Given the description of an element on the screen output the (x, y) to click on. 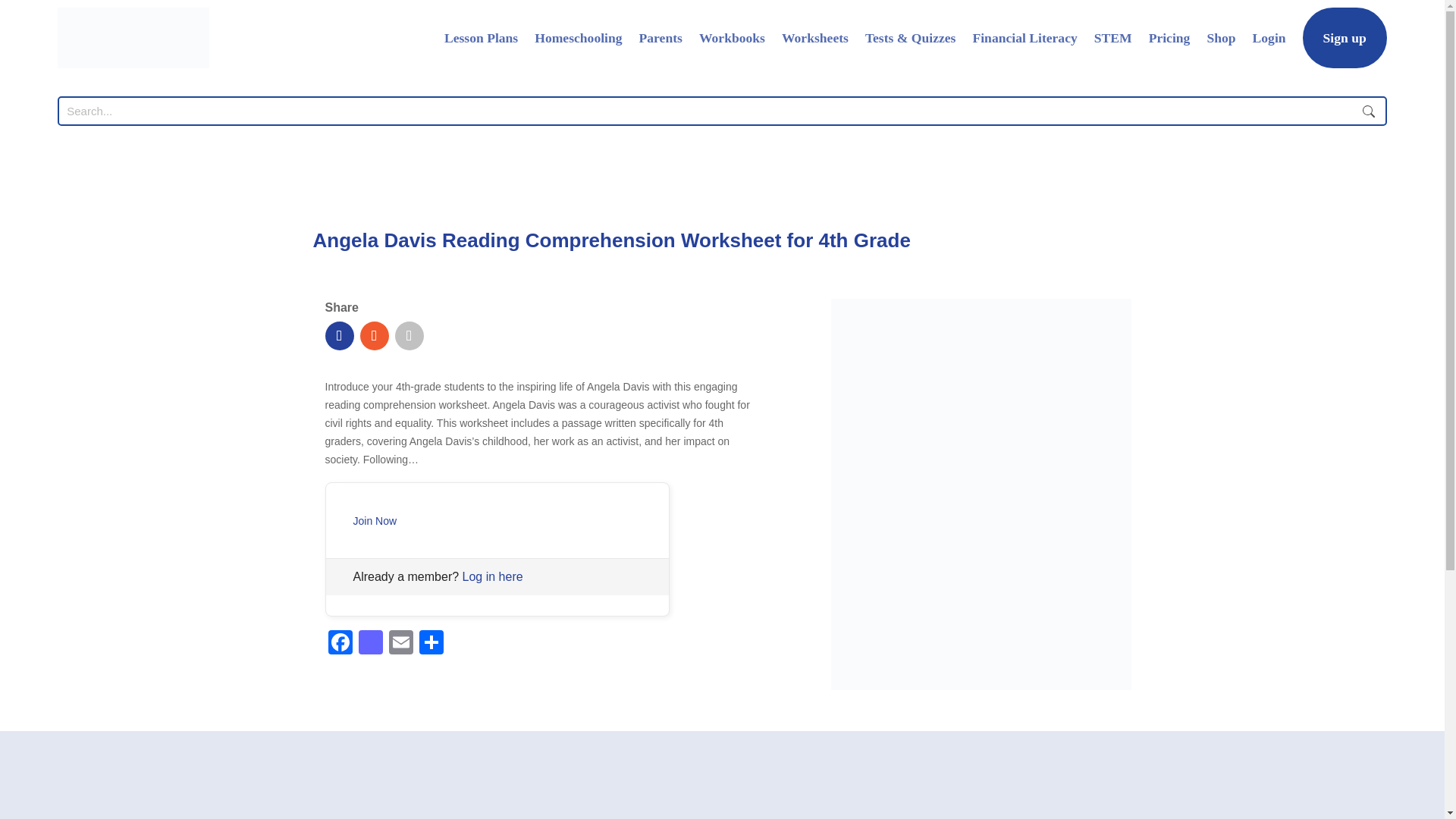
Financial Literacy (1024, 37)
Email (399, 641)
Follow on Pinterest (408, 335)
Log in here (492, 576)
Homeschooling (577, 37)
Worksheets (814, 37)
Lesson Plans (481, 37)
Join Now (375, 521)
Sign up (1345, 37)
Facebook (339, 641)
